Given the description of an element on the screen output the (x, y) to click on. 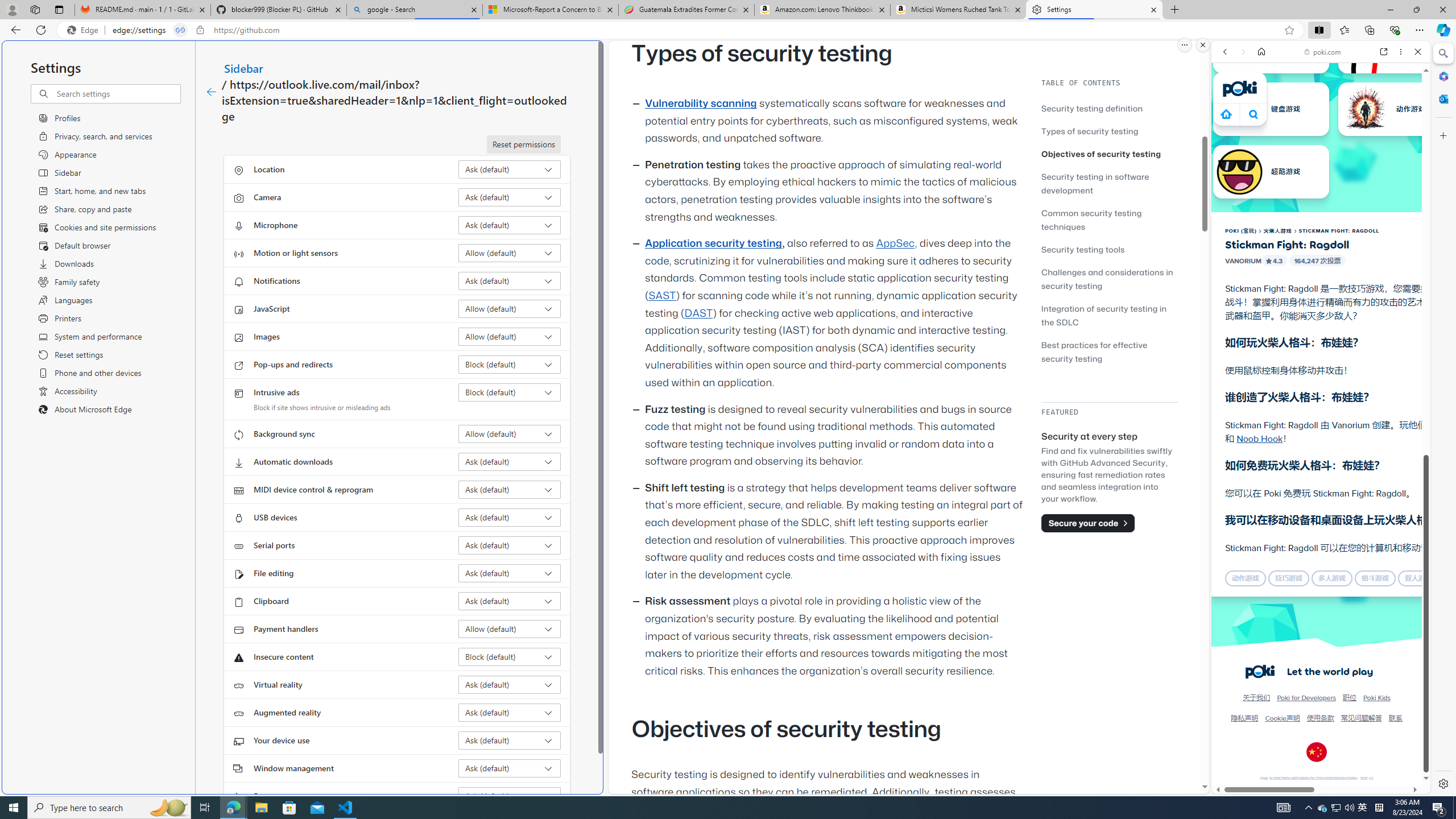
Notifications Ask (default) (509, 280)
Clipboard Ask (default) (509, 601)
Augmented reality Ask (default) (509, 712)
Noob Hook (1259, 438)
Security testing in software development (1109, 183)
Security testing definition (1091, 108)
Objectives of security testing (1101, 153)
